Given the description of an element on the screen output the (x, y) to click on. 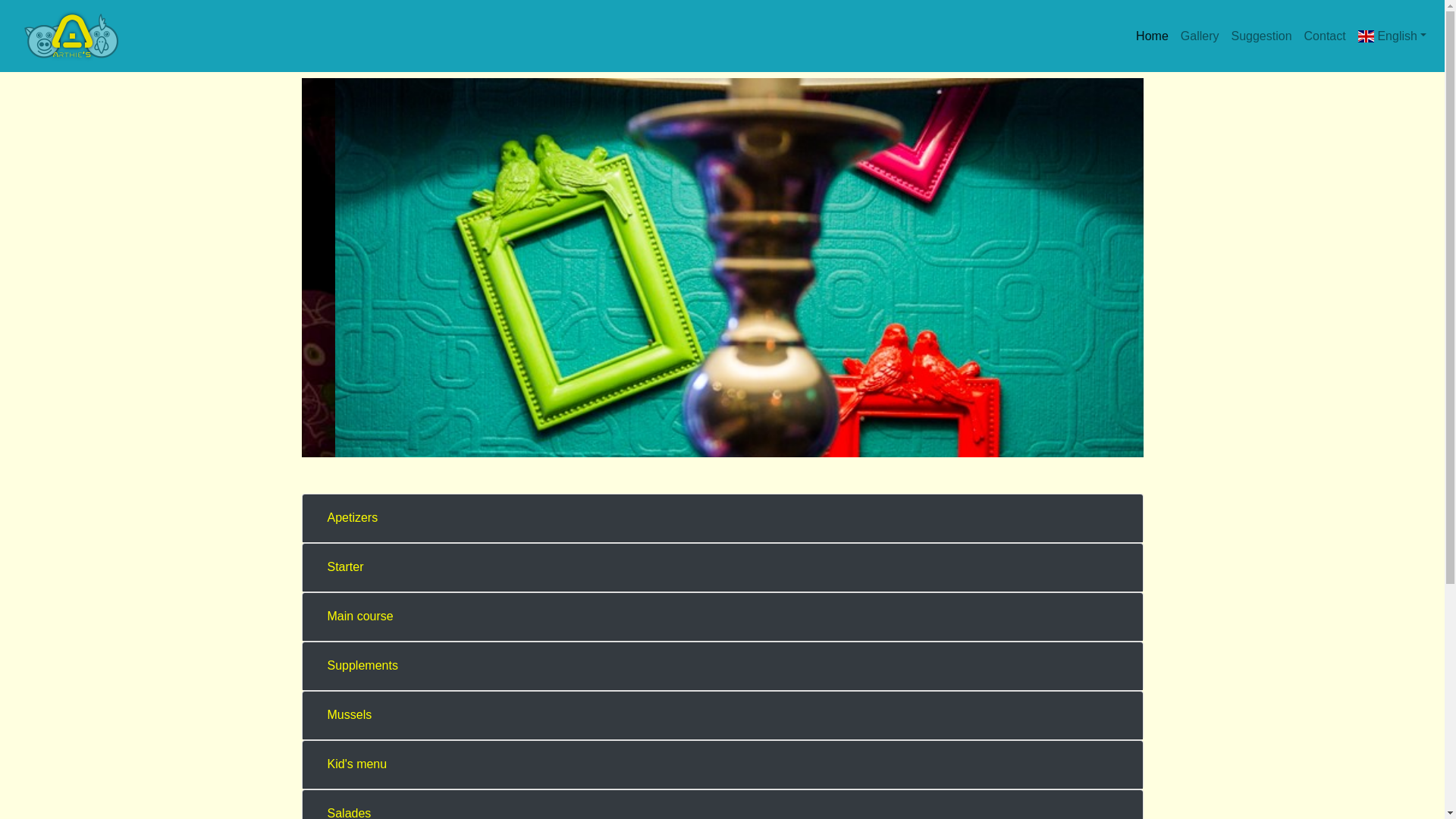
Kid's menu Element type: text (356, 763)
Main course Element type: text (359, 616)
Starter Element type: text (344, 566)
Supplements Element type: text (361, 665)
Home Element type: text (1151, 36)
Contact Element type: text (1325, 36)
Mussels Element type: text (348, 714)
Gallery Element type: text (1199, 36)
Apetizers Element type: text (351, 517)
Suggestion Element type: text (1260, 36)
English Element type: text (1392, 36)
